Given the description of an element on the screen output the (x, y) to click on. 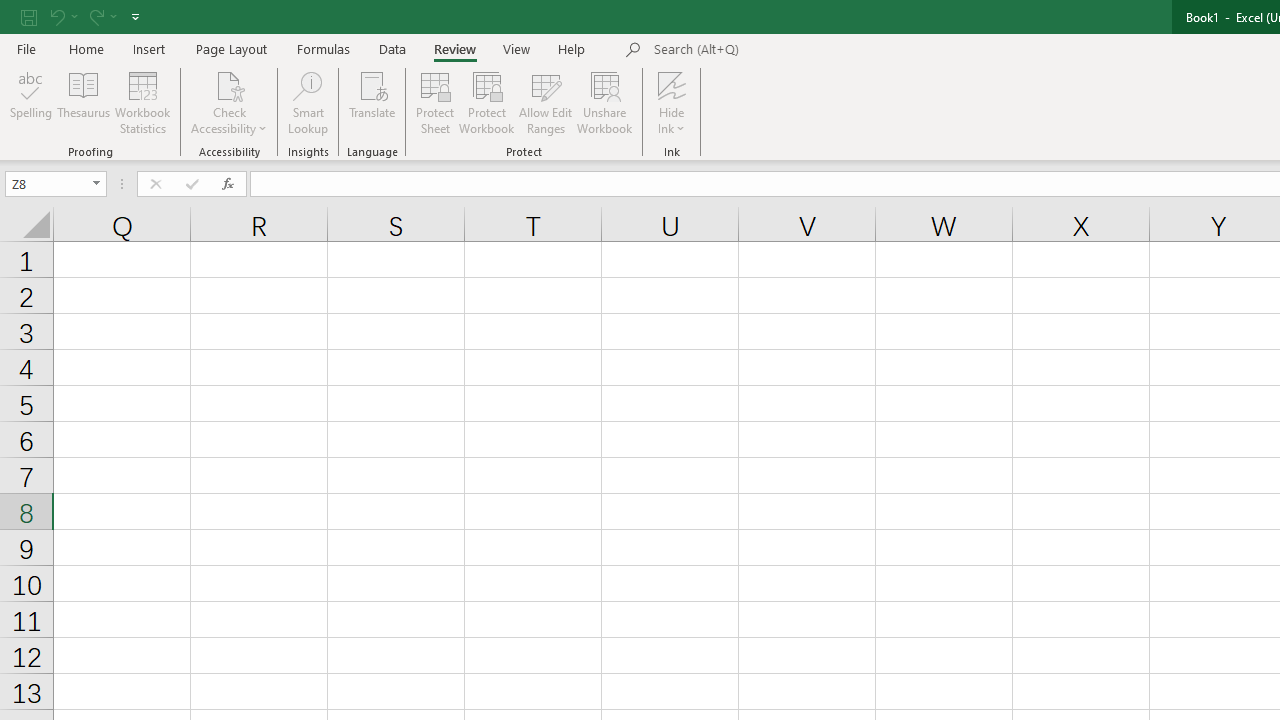
Hide Ink (671, 102)
Smart Lookup (308, 102)
Translate (372, 102)
Unshare Workbook (604, 102)
Workbook Statistics (142, 102)
Allow Edit Ranges (545, 102)
Check Accessibility (229, 84)
